Given the description of an element on the screen output the (x, y) to click on. 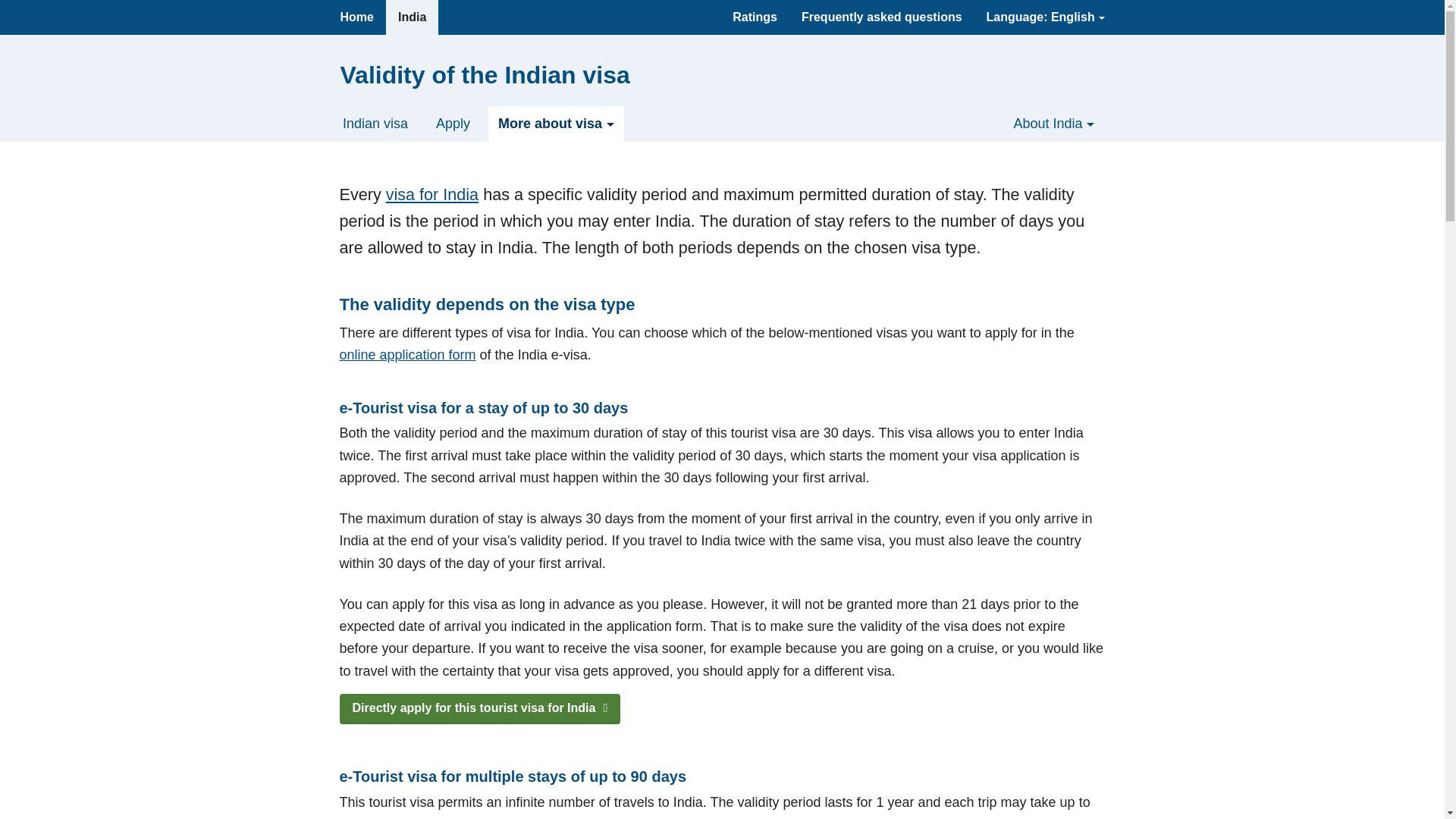
Indian visa (374, 123)
Frequently asked questions (881, 17)
India (411, 17)
More about visa (555, 123)
Home (356, 17)
Ratings (754, 17)
Language: English (1045, 17)
About India (1053, 123)
Home (356, 17)
Apply (453, 123)
